Given the description of an element on the screen output the (x, y) to click on. 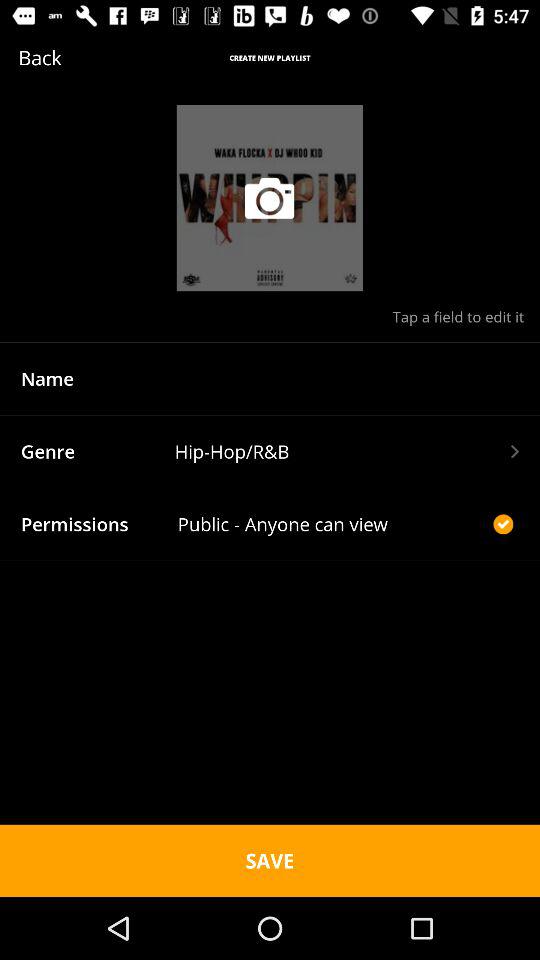
select icon to the right of the public anyone can (503, 524)
